Given the description of an element on the screen output the (x, y) to click on. 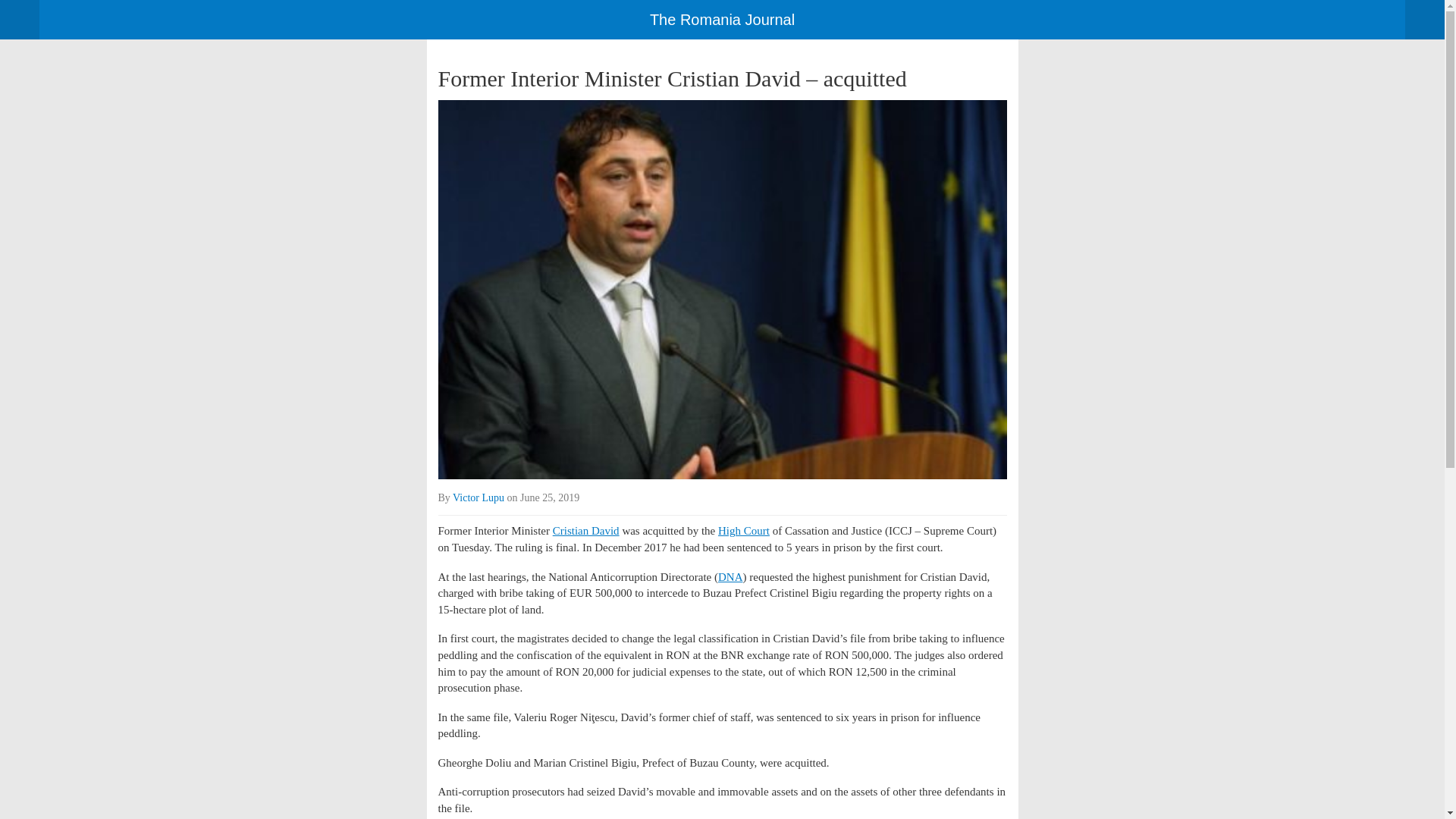
DNA (729, 576)
Cristian David (586, 530)
High Court (743, 530)
Victor Lupu (477, 497)
